Given the description of an element on the screen output the (x, y) to click on. 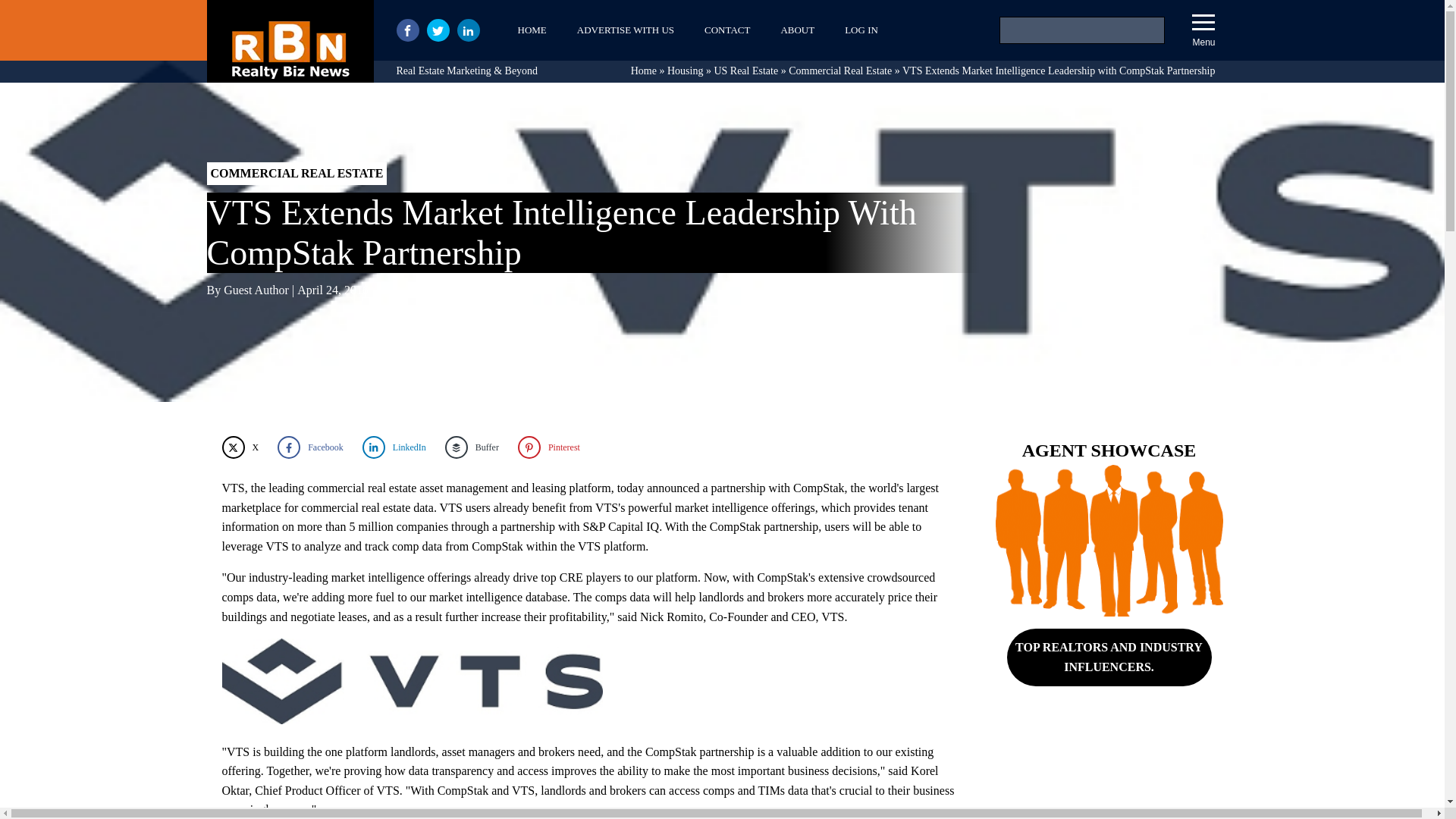
CONTACT (726, 30)
US Real Estate (745, 70)
Housing (684, 70)
Search (31, 13)
US Real Estate (745, 70)
Home (643, 70)
Home (643, 70)
Housing (684, 70)
ADVERTISE WITH US (625, 30)
Advertisement (1108, 773)
Commercial Real Estate (840, 70)
Commercial Real Estate (840, 70)
ABOUT (797, 30)
HOME (531, 30)
LOG IN (861, 30)
